Given the description of an element on the screen output the (x, y) to click on. 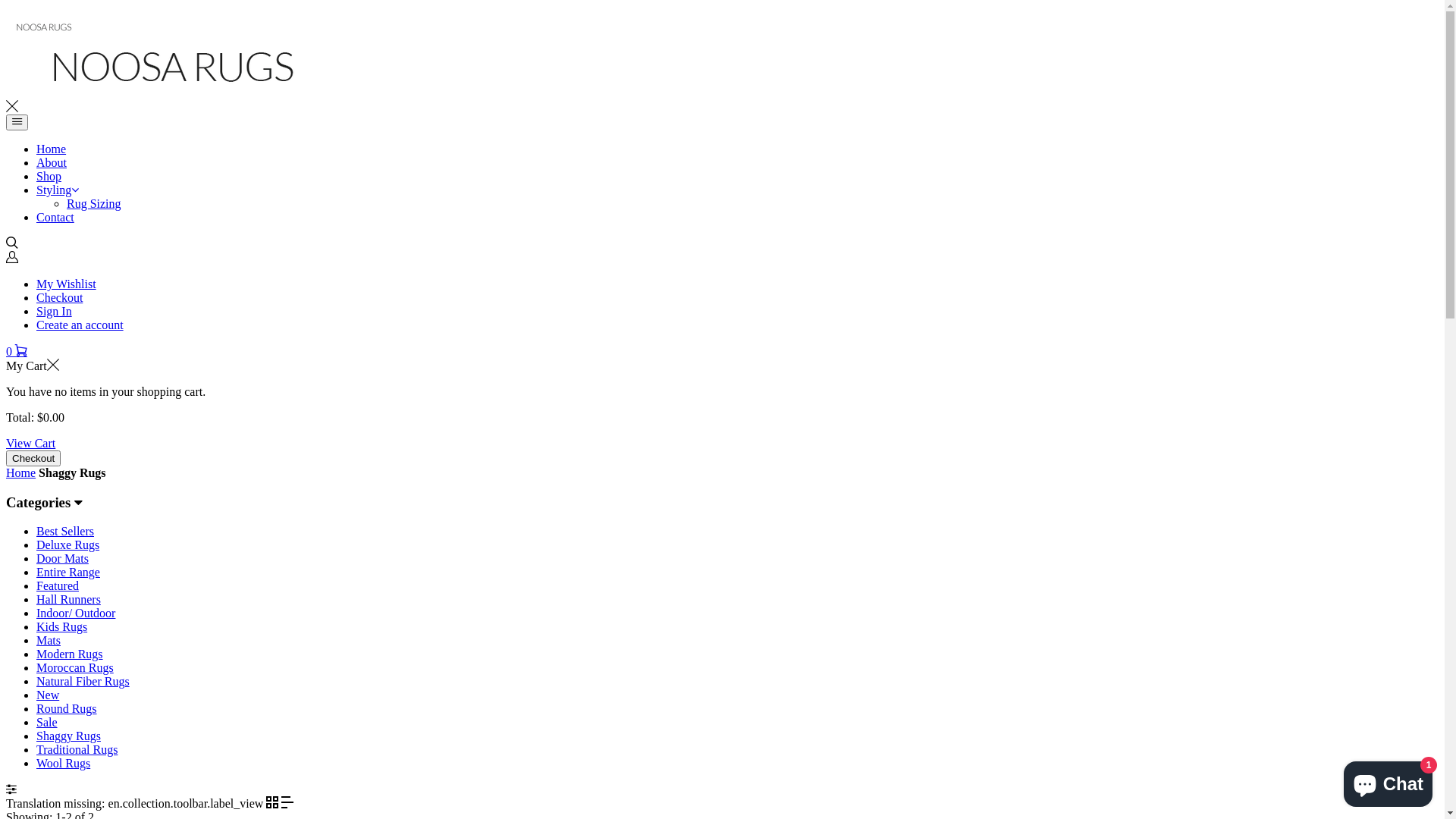
Shopify online store chat Element type: hover (1388, 780)
Rug Sizing Element type: text (93, 203)
List view Element type: hover (287, 803)
Grid view Element type: hover (272, 803)
Contact Element type: text (55, 216)
Sign In Element type: text (54, 310)
Featured Element type: text (57, 585)
Traditional Rugs Element type: text (76, 749)
Wool Rugs Element type: text (63, 762)
(07) 5442 4899 Element type: text (112, 13)
Entire Range Element type: text (68, 571)
Sale Element type: text (46, 721)
0 Element type: text (16, 351)
Shop Element type: text (48, 175)
Checkout Element type: text (59, 297)
Home Element type: text (20, 472)
Kids Rugs Element type: text (61, 626)
Hall Runners Element type: text (68, 599)
Round Rugs Element type: text (66, 708)
My Wishlist Element type: text (66, 283)
Home Element type: text (50, 148)
About Element type: text (51, 162)
Indoor/ Outdoor Element type: text (75, 612)
New Element type: text (47, 694)
Natural Fiber Rugs Element type: text (82, 680)
Door Mats Element type: text (62, 558)
Styling Element type: text (57, 189)
Moroccan Rugs Element type: text (74, 667)
Best Sellers Element type: text (65, 530)
Create an account Element type: text (79, 324)
Shaggy Rugs Element type: text (68, 735)
Mats Element type: text (48, 639)
View Cart Element type: text (30, 442)
Modern Rugs Element type: text (69, 653)
Checkout Element type: text (33, 458)
Deluxe Rugs Element type: text (67, 544)
